Given the description of an element on the screen output the (x, y) to click on. 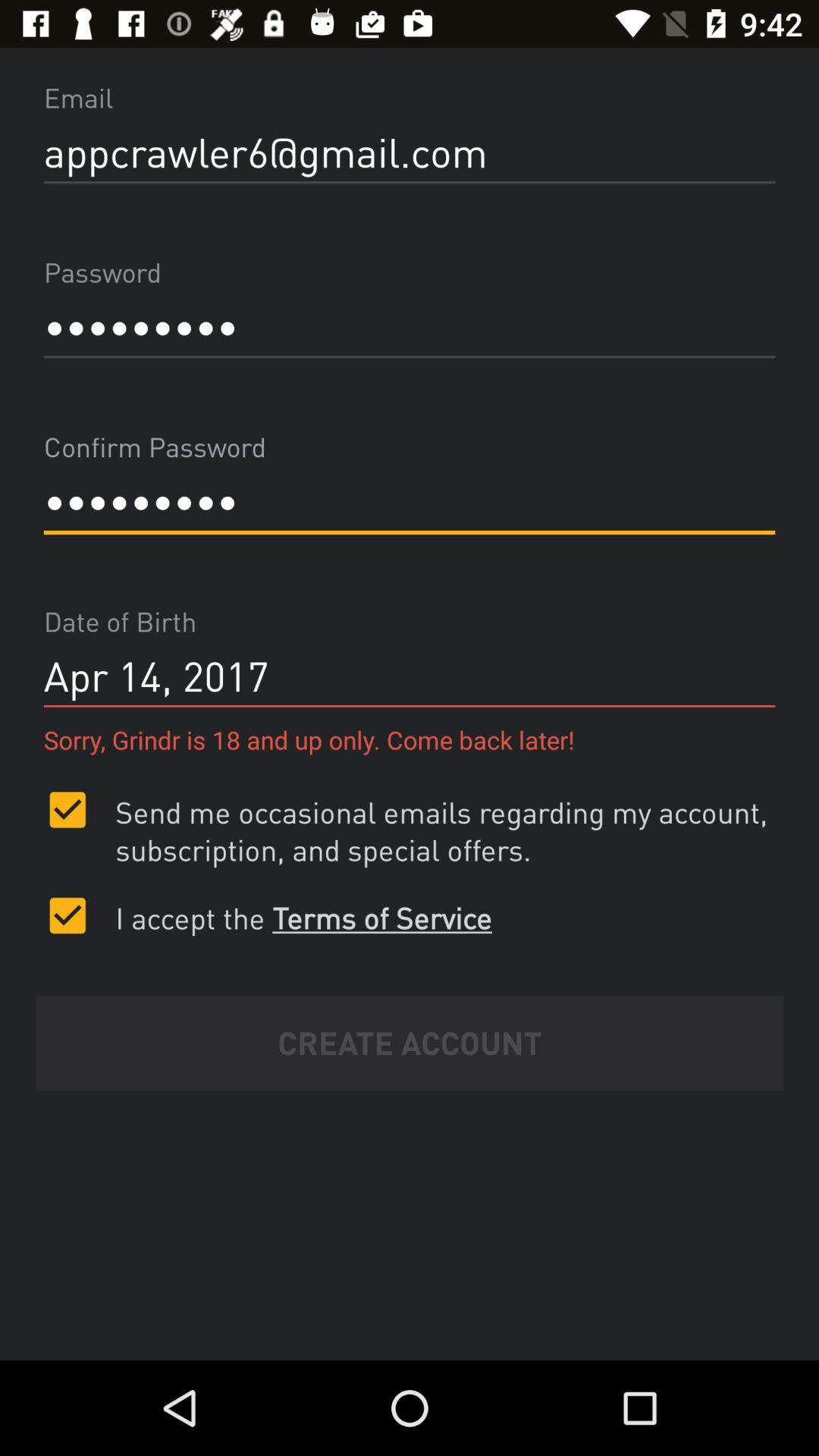
check the option (67, 915)
